Given the description of an element on the screen output the (x, y) to click on. 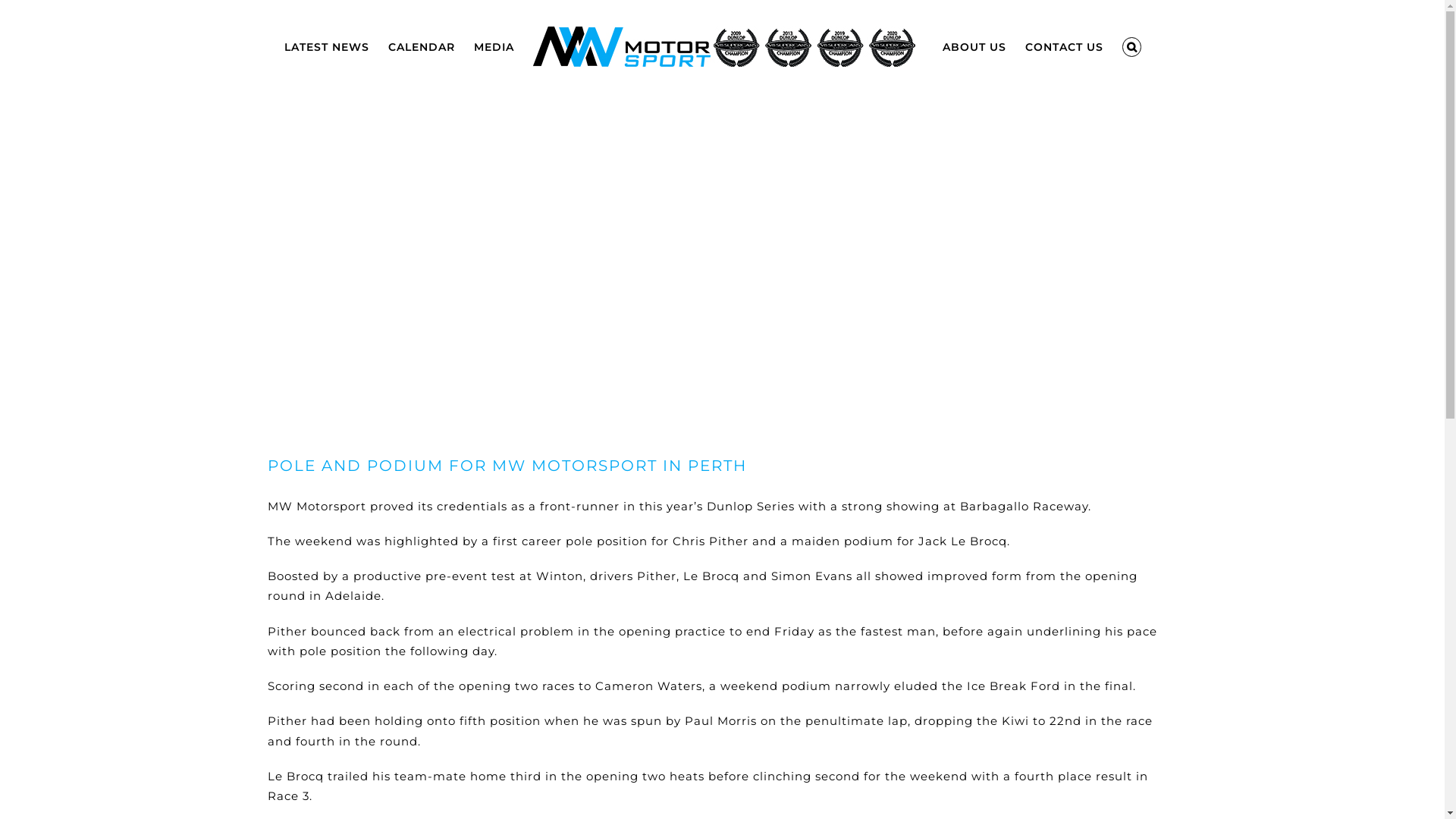
View Larger Image Element type: text (721, 265)
LATEST NEWS Element type: text (326, 41)
CALENDAR Element type: text (421, 41)
Search Element type: hover (1132, 41)
MEDIA Element type: text (493, 41)
CONTACT US Element type: text (1064, 41)
ABOUT US Element type: text (974, 41)
